Given the description of an element on the screen output the (x, y) to click on. 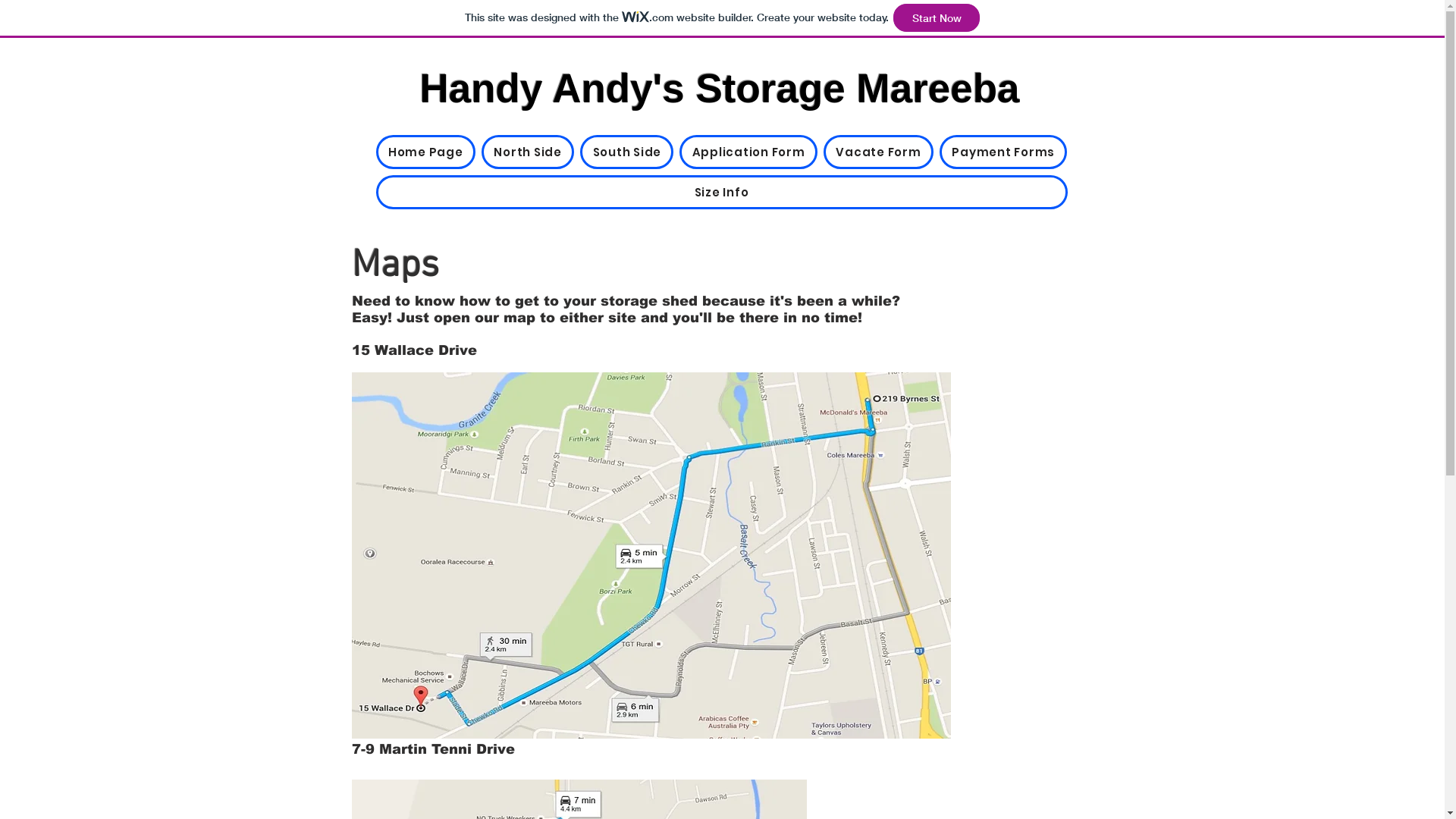
Home Page Element type: text (425, 151)
Vacate Form Element type: text (878, 151)
Size Info Element type: text (721, 192)
South Side Element type: text (626, 151)
Application Form Element type: text (748, 151)
North Side Element type: text (527, 151)
Payment Forms Element type: text (1002, 151)
Handy Andy's Storage Mareeba Element type: text (719, 87)
